Given the description of an element on the screen output the (x, y) to click on. 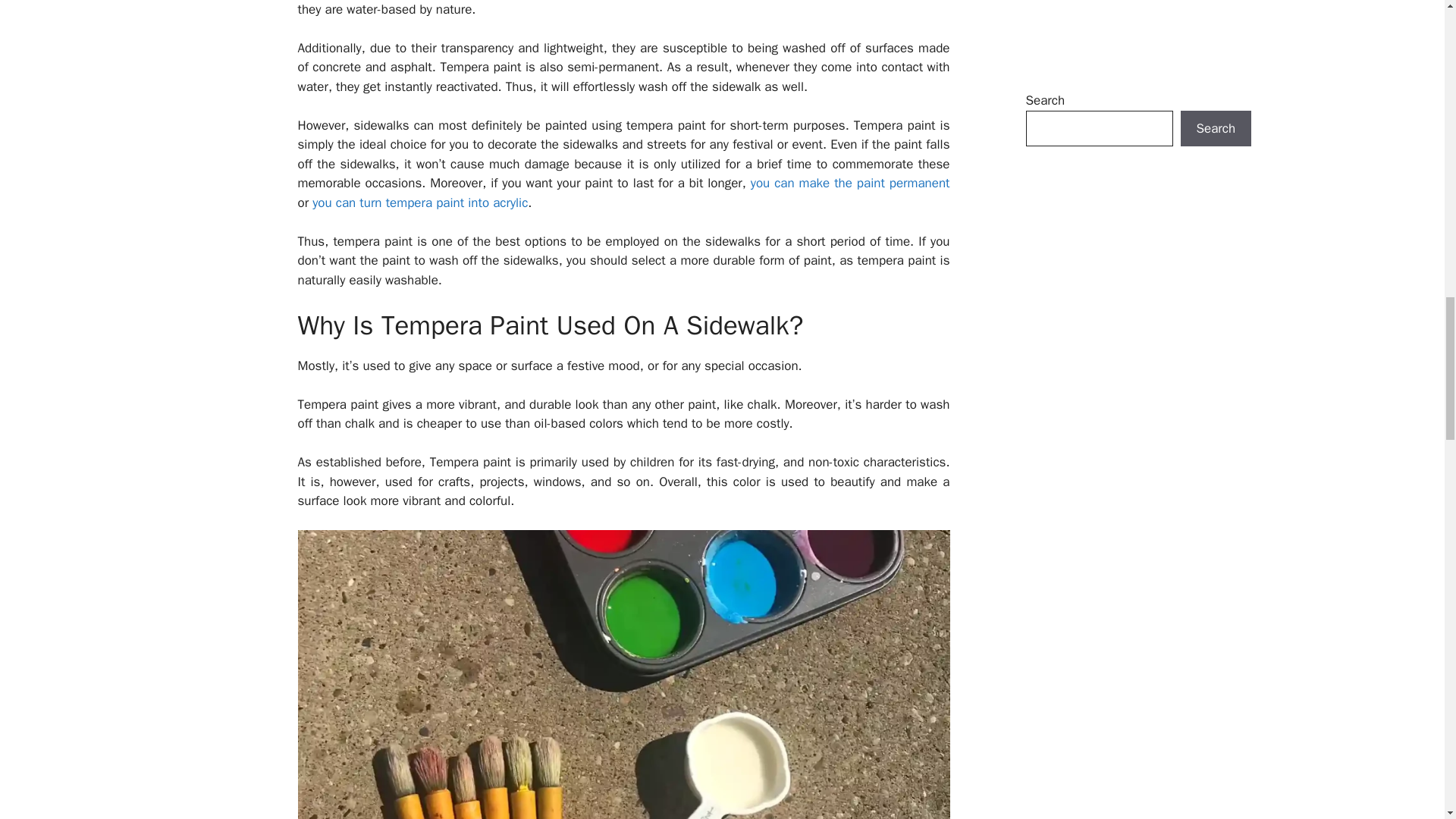
you can make the paint permanent (850, 182)
you can turn tempera paint into acrylic (420, 202)
